Given the description of an element on the screen output the (x, y) to click on. 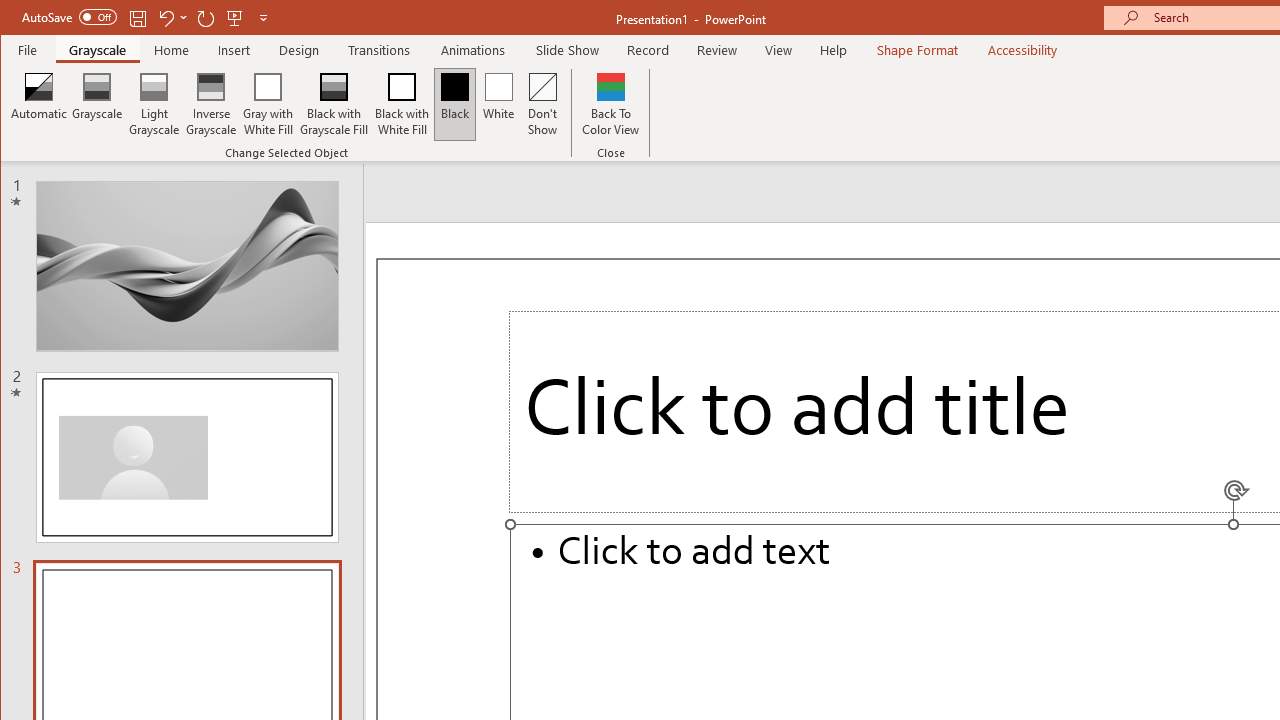
Grayscale (97, 50)
Light Grayscale (153, 104)
Black with White Fill (402, 104)
Don't Show (543, 104)
Black with Grayscale Fill (334, 104)
Automatic (39, 104)
